Given the description of an element on the screen output the (x, y) to click on. 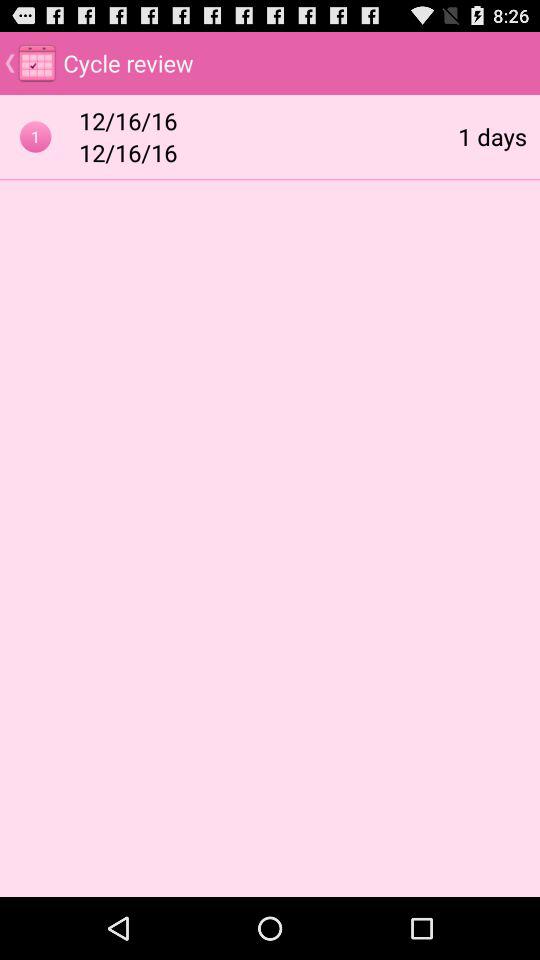
select the item at the top right corner (492, 136)
